Given the description of an element on the screen output the (x, y) to click on. 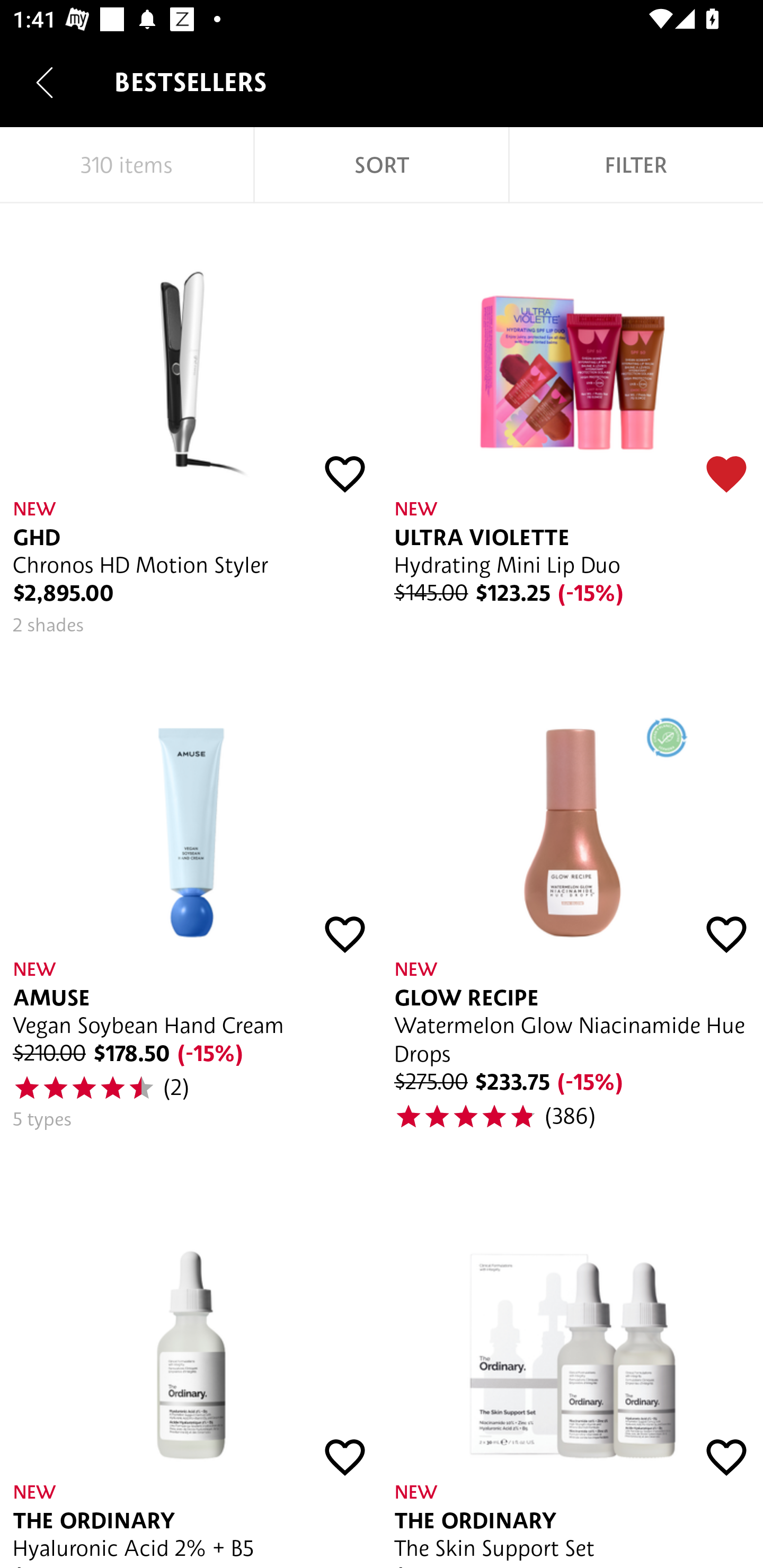
Navigate up (44, 82)
SORT (381, 165)
FILTER (636, 165)
NEW THE ORDINARY Hyaluronic Acid 2% + B5 $143.00 (190, 1370)
NEW THE ORDINARY The Skin Support Set $109.00 (572, 1370)
